Given the description of an element on the screen output the (x, y) to click on. 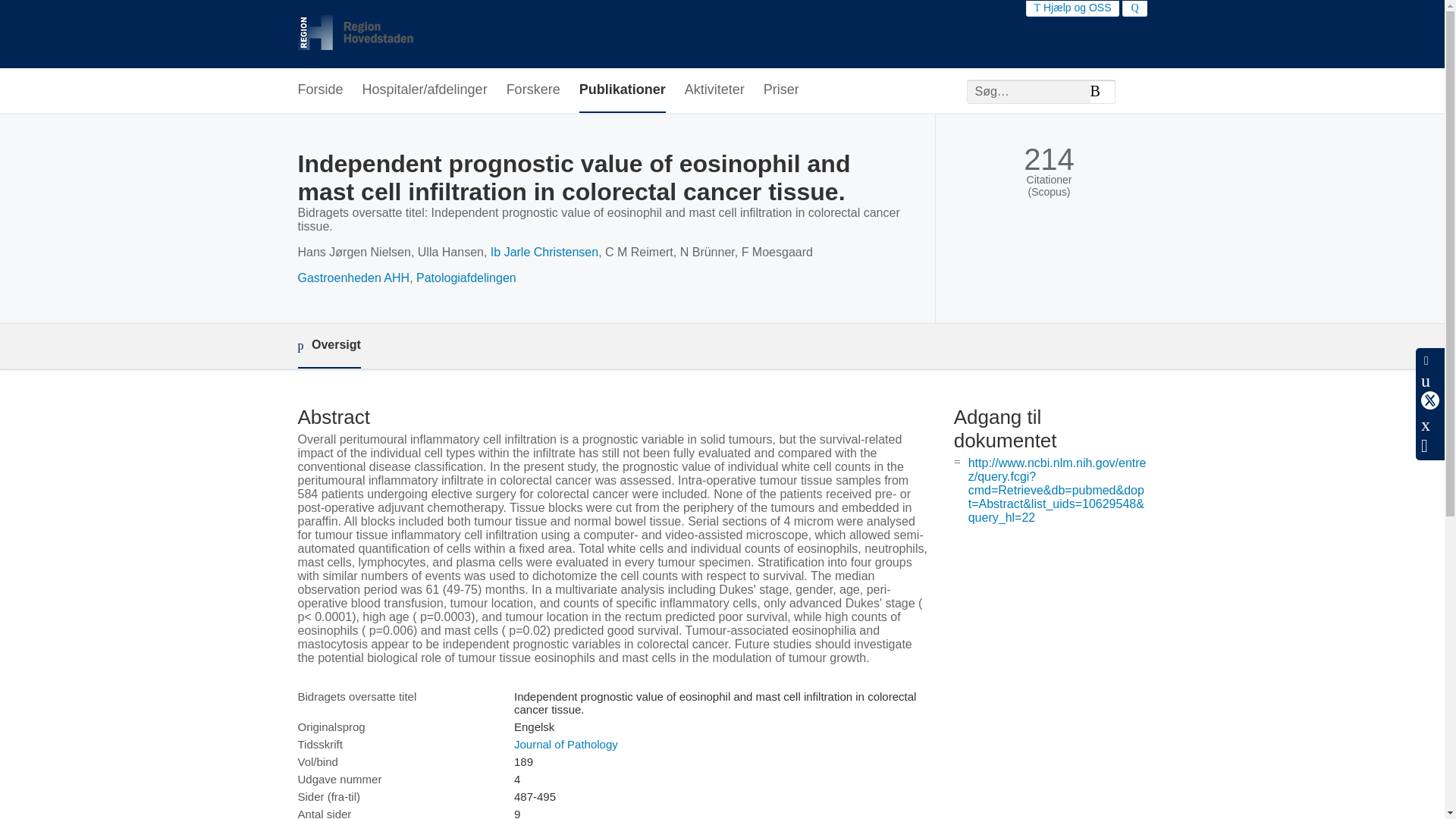
Journal of Pathology (565, 744)
Forside (319, 90)
Gastroenheden AHH (353, 277)
Aktiviteter (714, 90)
Ib Jarle Christensen (544, 251)
Publikationer (622, 90)
Oversigt (328, 345)
Region Hovedstadens forskningsportal Forside (492, 34)
Patologiafdelingen (466, 277)
